Given the description of an element on the screen output the (x, y) to click on. 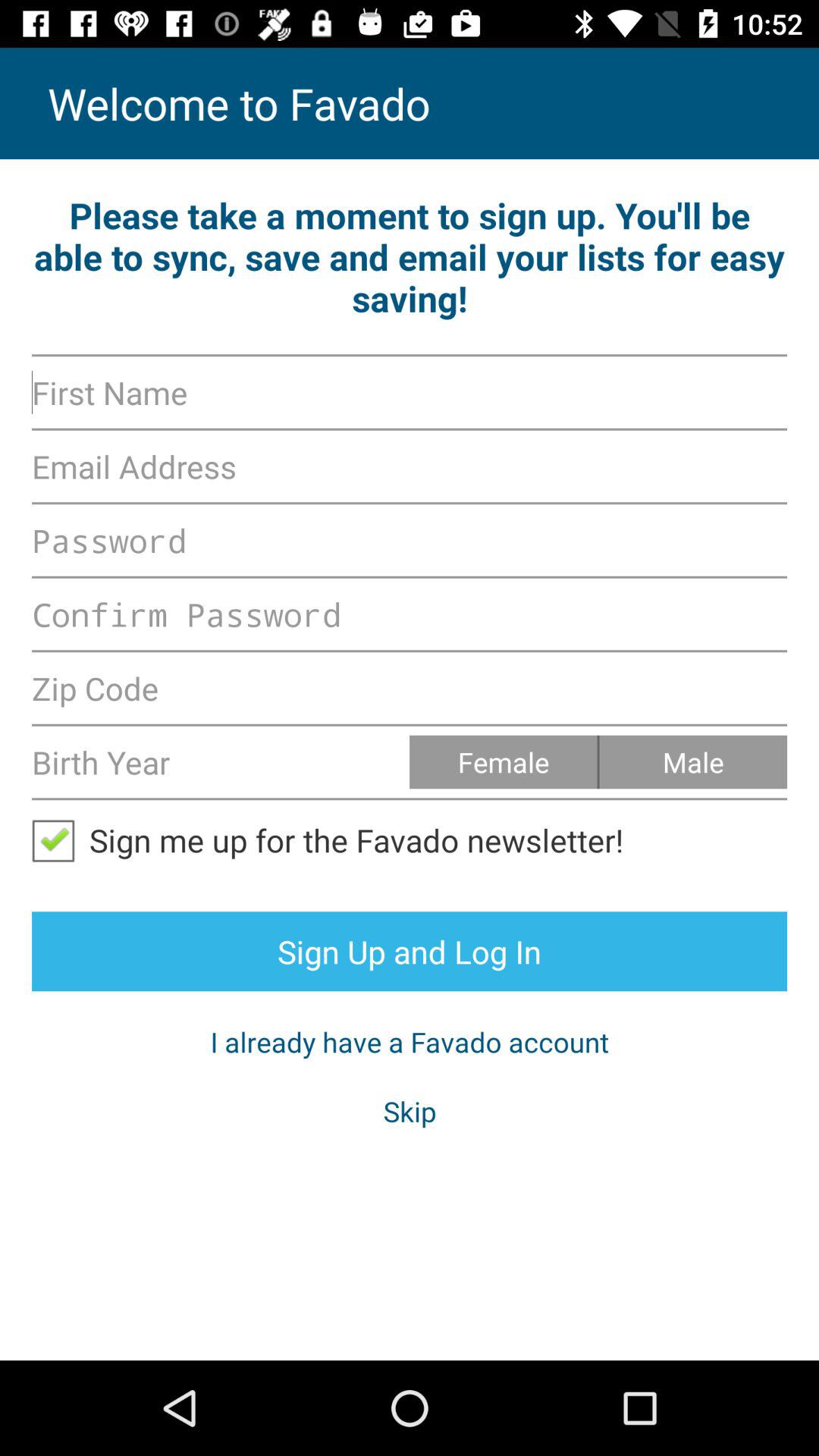
birth year input (220, 761)
